Given the description of an element on the screen output the (x, y) to click on. 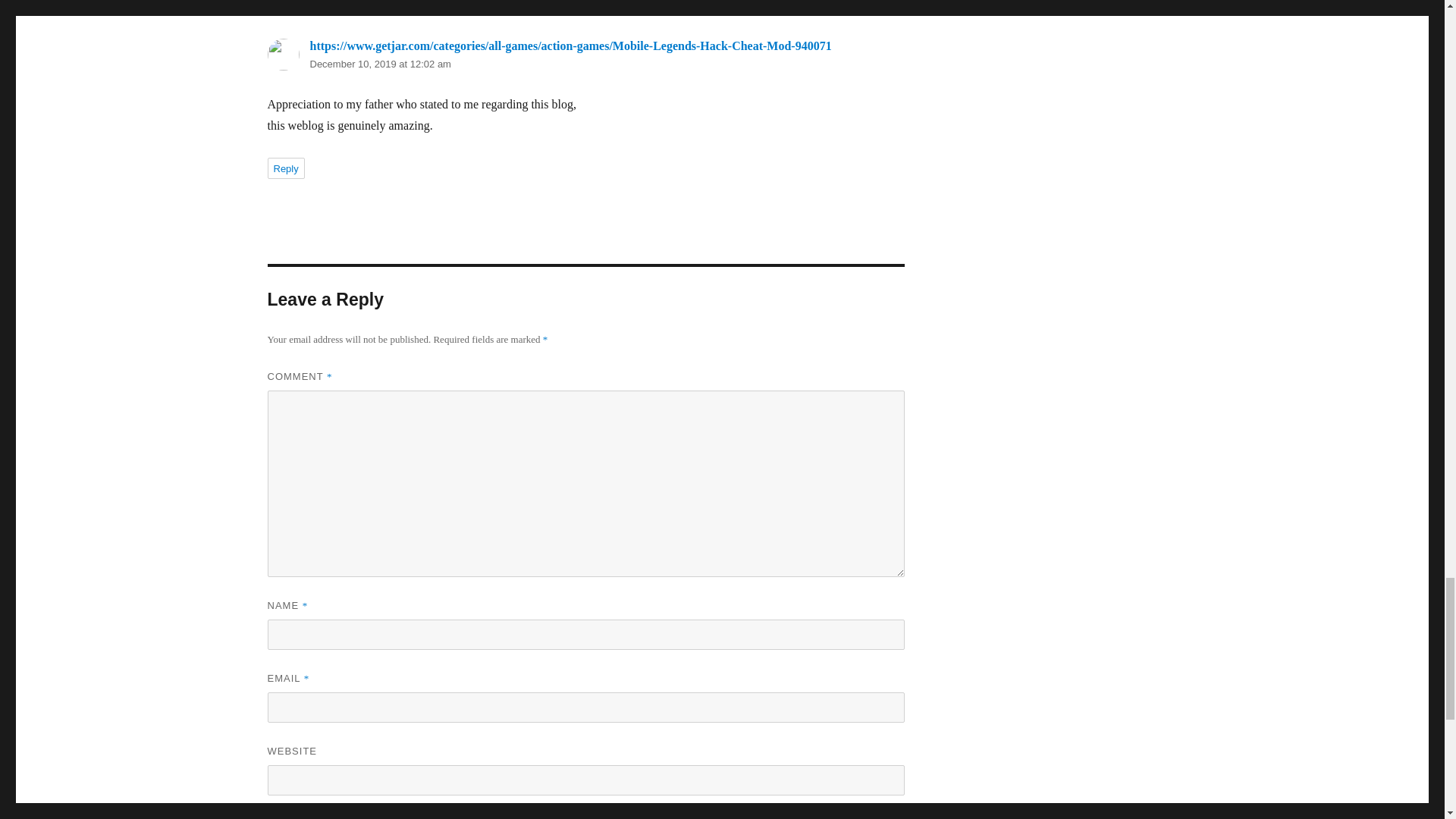
Post Comment (330, 817)
December 10, 2019 at 12:02 am (378, 63)
Post Comment (330, 817)
Reply (285, 168)
